Given the description of an element on the screen output the (x, y) to click on. 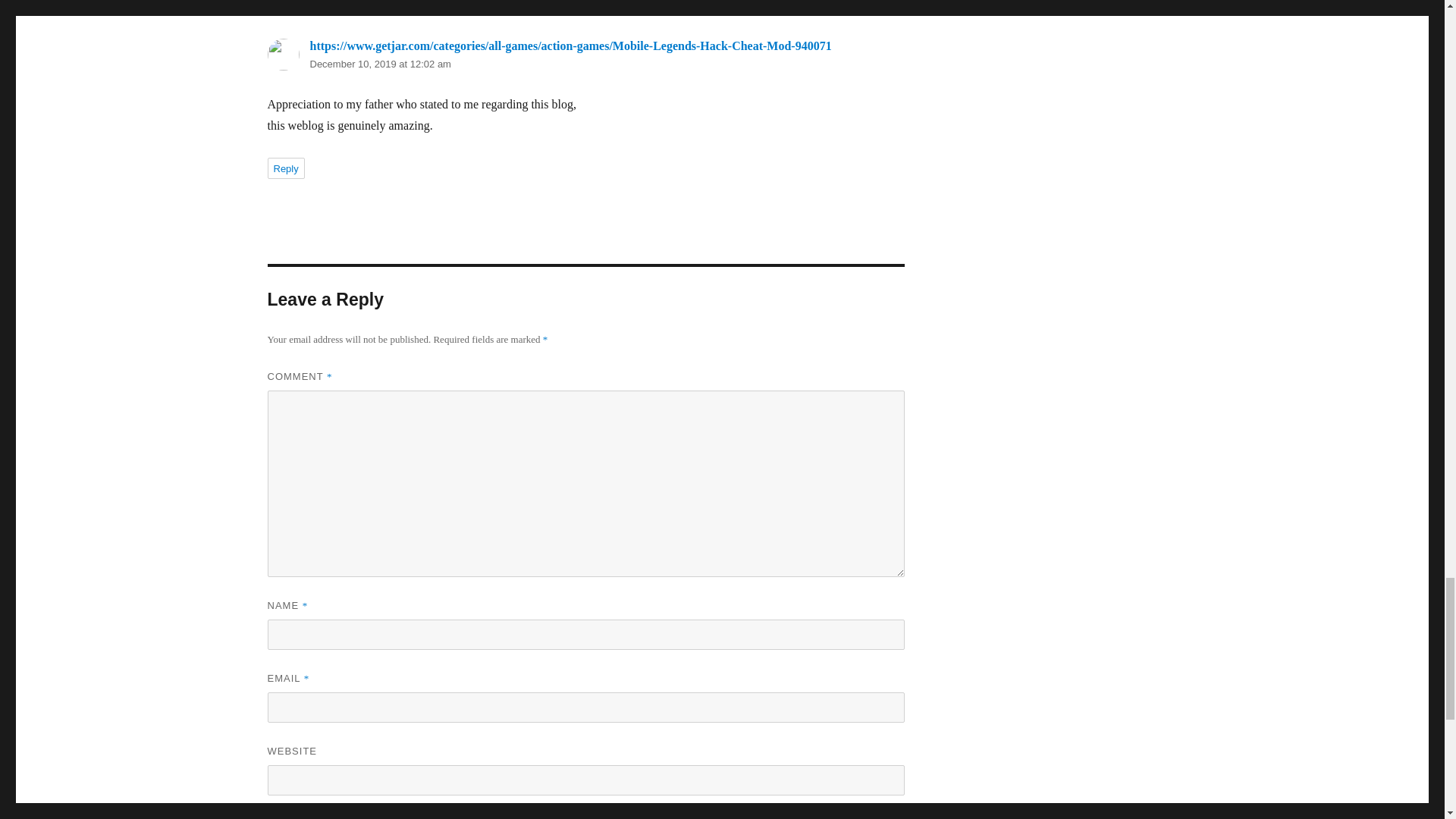
Post Comment (330, 817)
December 10, 2019 at 12:02 am (378, 63)
Post Comment (330, 817)
Reply (285, 168)
